Given the description of an element on the screen output the (x, y) to click on. 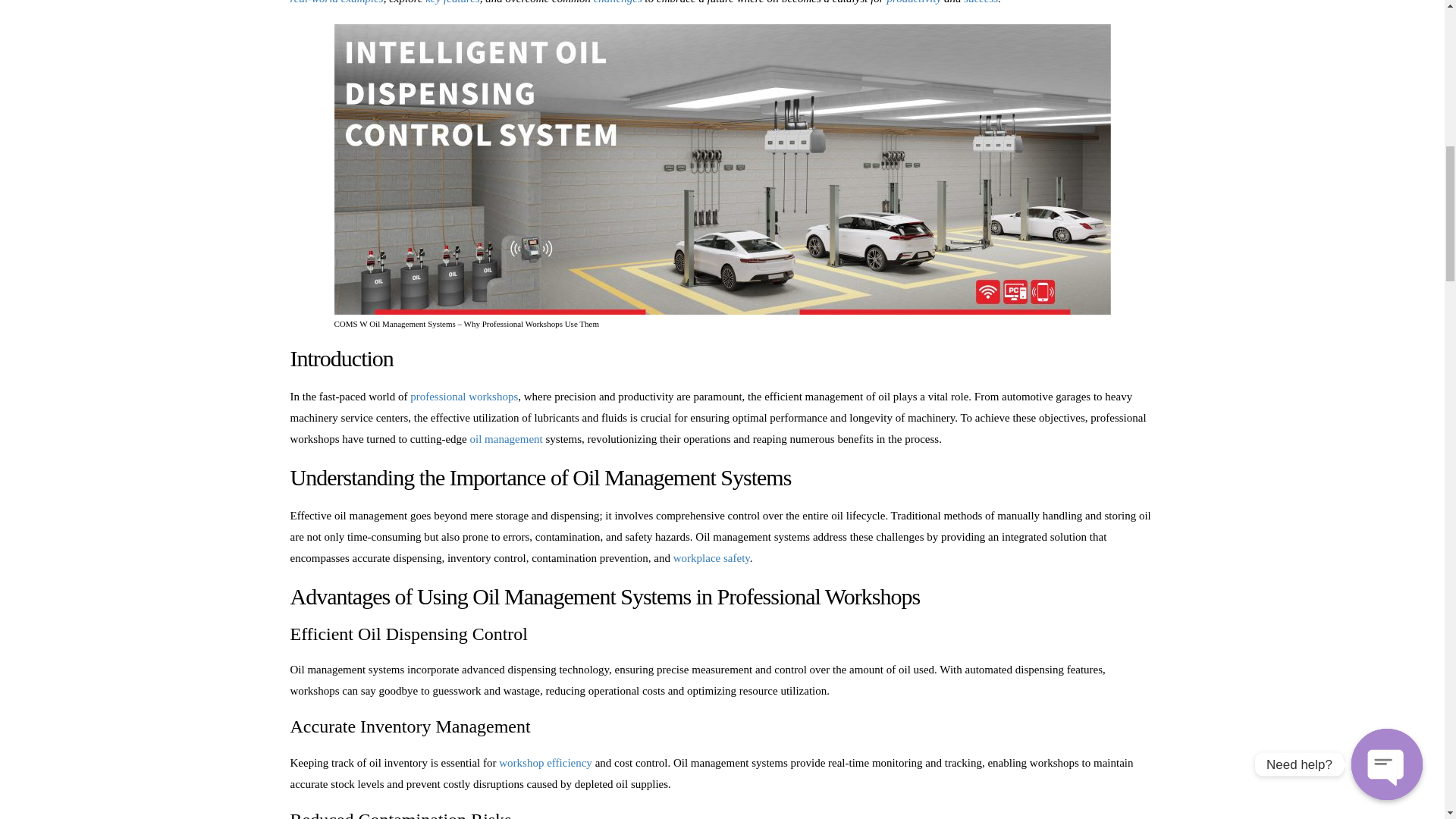
View all posts in key features (452, 2)
key features (452, 2)
View all posts in productivity (913, 2)
productivity (913, 2)
View all posts in real-world examples (335, 2)
challenges (618, 2)
View all posts in challenges (618, 2)
real-world examples (335, 2)
View all posts in oil management (506, 439)
View all posts in workplace safety (710, 558)
View all posts in workshop efficiency (545, 762)
View all posts in professional workshops (464, 396)
View all posts in success (980, 2)
